Given the description of an element on the screen output the (x, y) to click on. 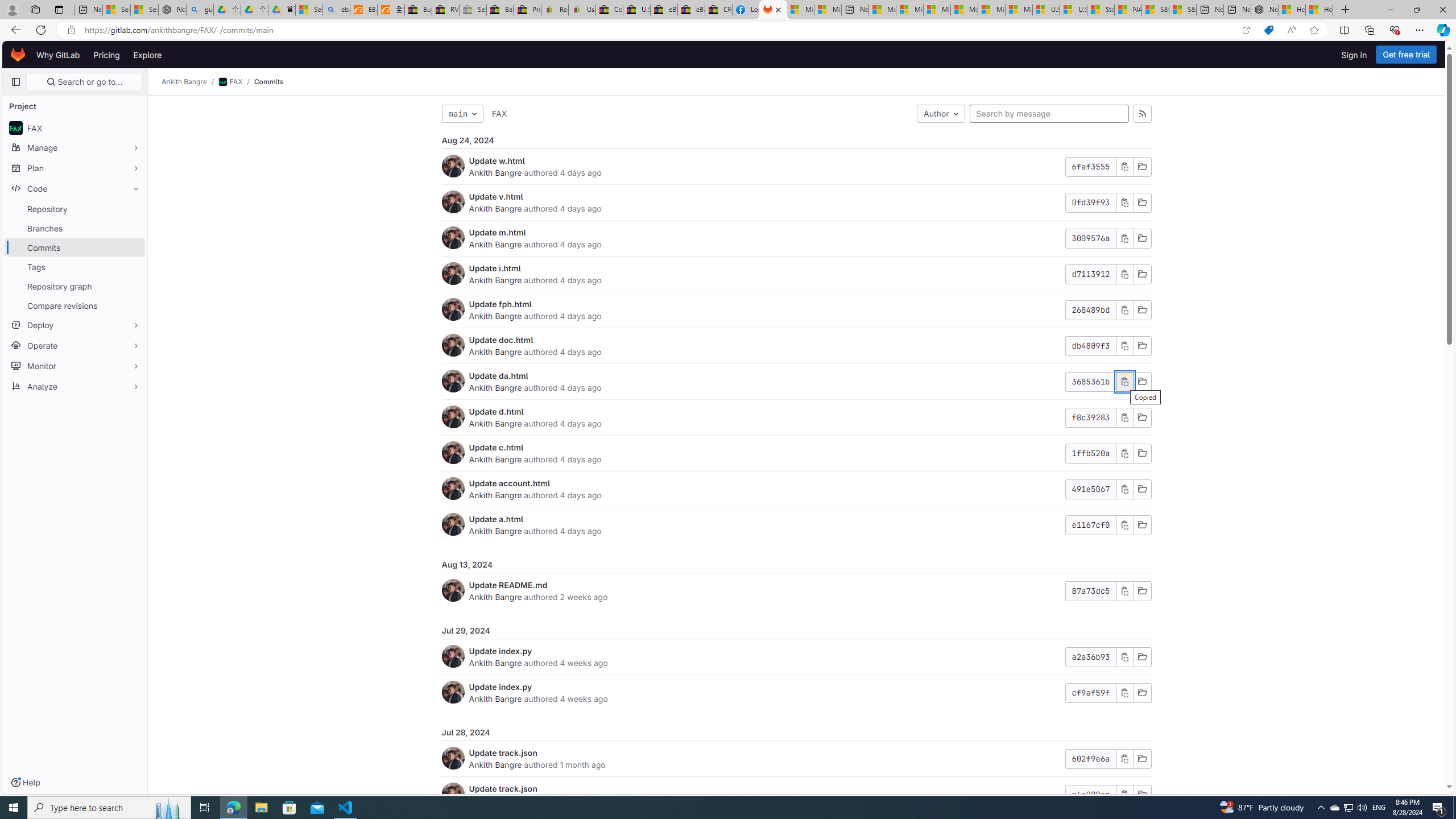
Analyze (74, 385)
Ankith Bangre/ (189, 81)
Consumer Health Data Privacy Policy - eBay Inc. (609, 9)
Sign in (1353, 54)
Monitor (74, 365)
Update w.html (496, 160)
Ankith Bangre (495, 764)
FAX (499, 113)
Update track.jsonAnkith Bangre authored 1 month ago602f9e6a (796, 759)
Author (941, 113)
Operate (74, 344)
Why GitLab (58, 54)
